Given the description of an element on the screen output the (x, y) to click on. 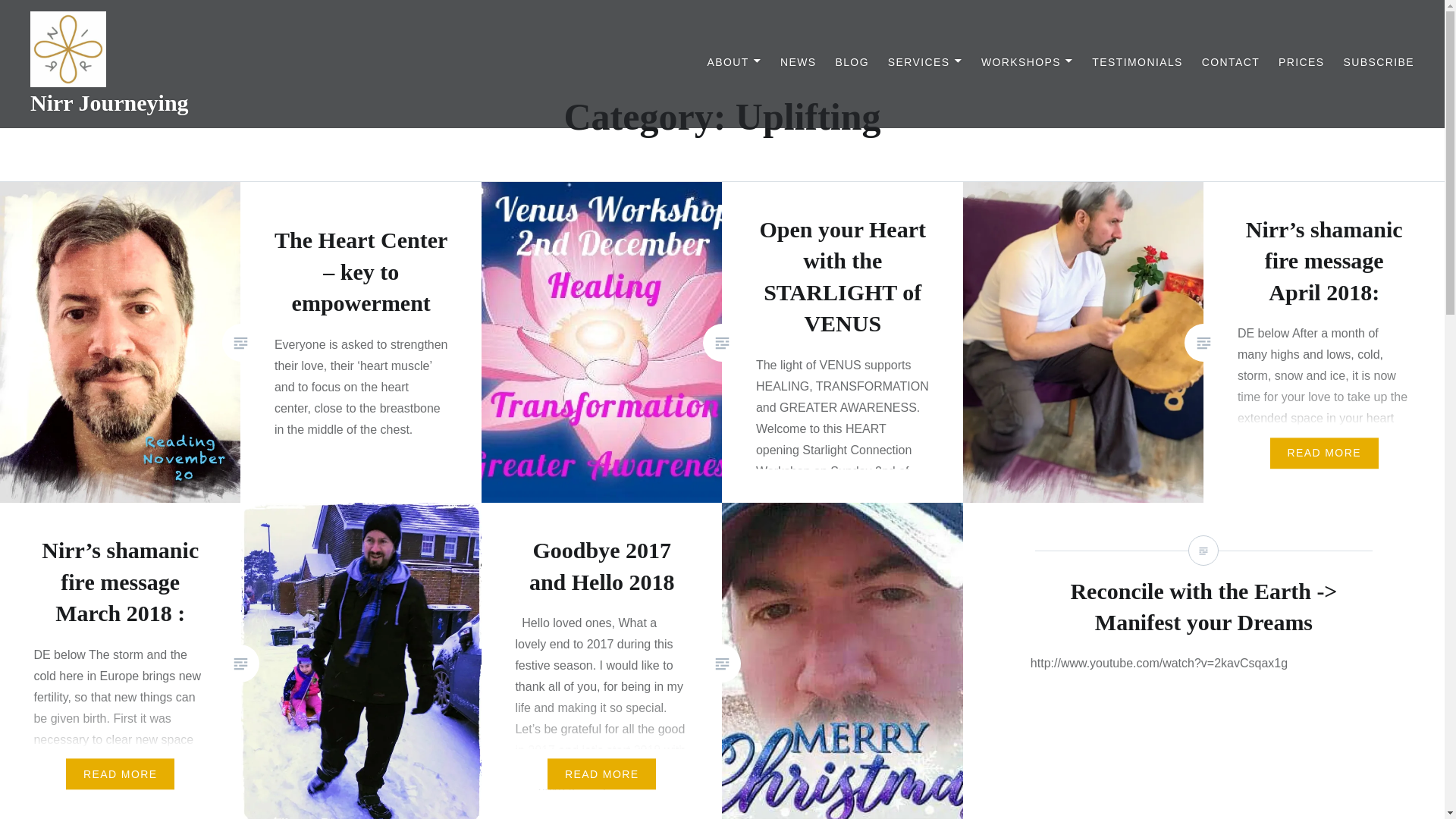
SERVICES (925, 62)
BLOG (851, 62)
ABOUT (733, 62)
Nirr Journeying (109, 102)
NEWS (798, 62)
